Given the description of an element on the screen output the (x, y) to click on. 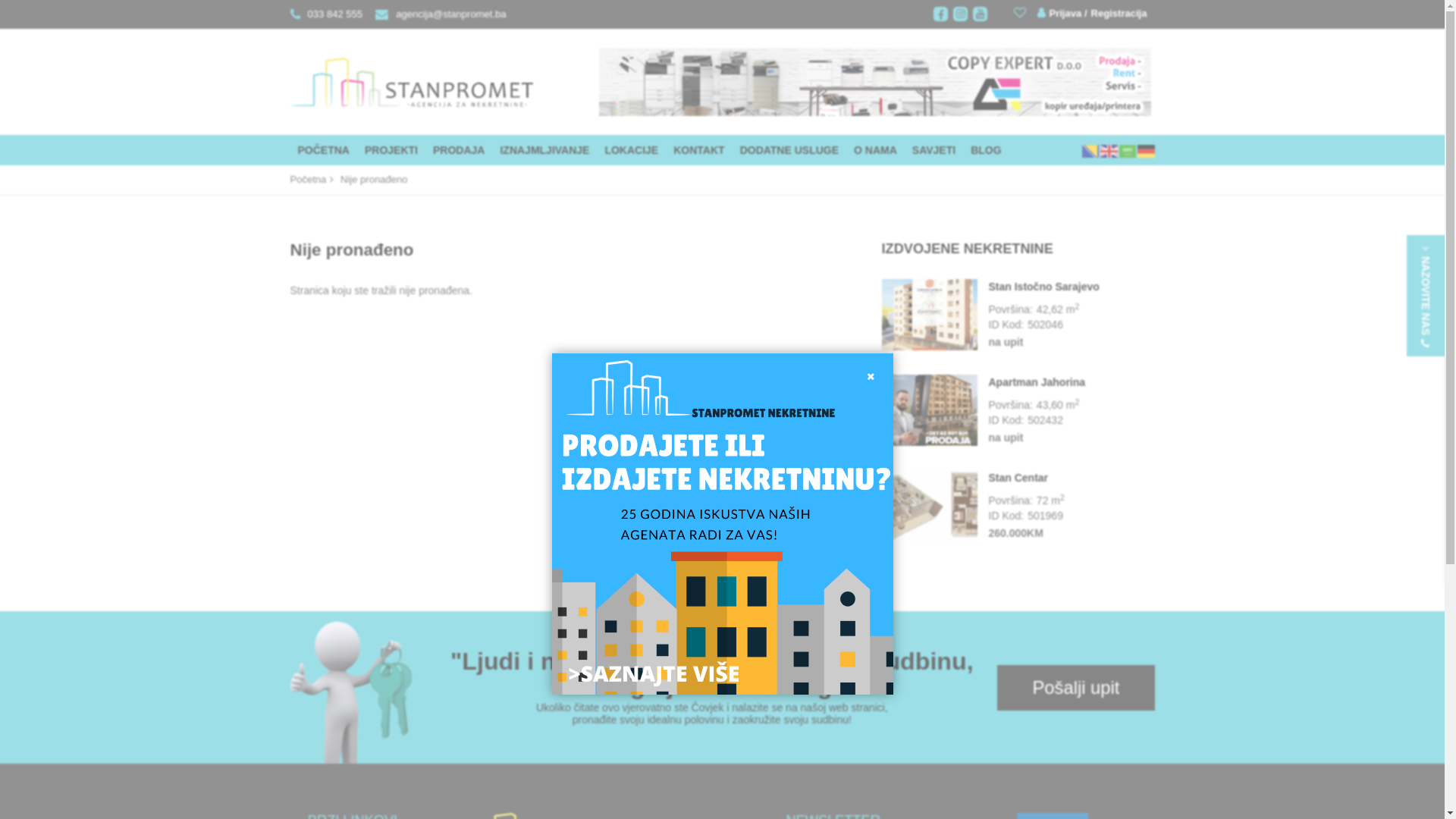
YouTube Element type: hover (979, 13)
Stan Centar Element type: text (1071, 477)
O NAMA Element type: text (875, 149)
PROJEKTI Element type: text (391, 149)
SAVJETI Element type: text (933, 149)
LOKACIJE Element type: text (630, 149)
Stan Centar Element type: hover (928, 506)
PRODAJA Element type: text (458, 149)
Deutsch Element type: hover (1145, 150)
English Element type: hover (1108, 150)
Registracija Element type: text (1115, 13)
Apartman Jahorina Element type: text (1071, 381)
Instagram Element type: hover (960, 13)
agencija@stanpromet.ba Element type: text (436, 13)
Bosanski Element type: hover (1090, 150)
My favorites Element type: hover (1021, 11)
NAZOVITE NAS Element type: text (1425, 295)
Apartman Jahorina Element type: hover (928, 410)
IZNAJMLJIVANJE Element type: text (544, 149)
DODATNE USLUGE Element type: text (789, 149)
KONTAKT Element type: text (698, 149)
BLOG Element type: text (985, 149)
033 842 555 Element type: text (325, 13)
Prijava Element type: text (1059, 13)
Facebook Element type: hover (940, 13)
